Given the description of an element on the screen output the (x, y) to click on. 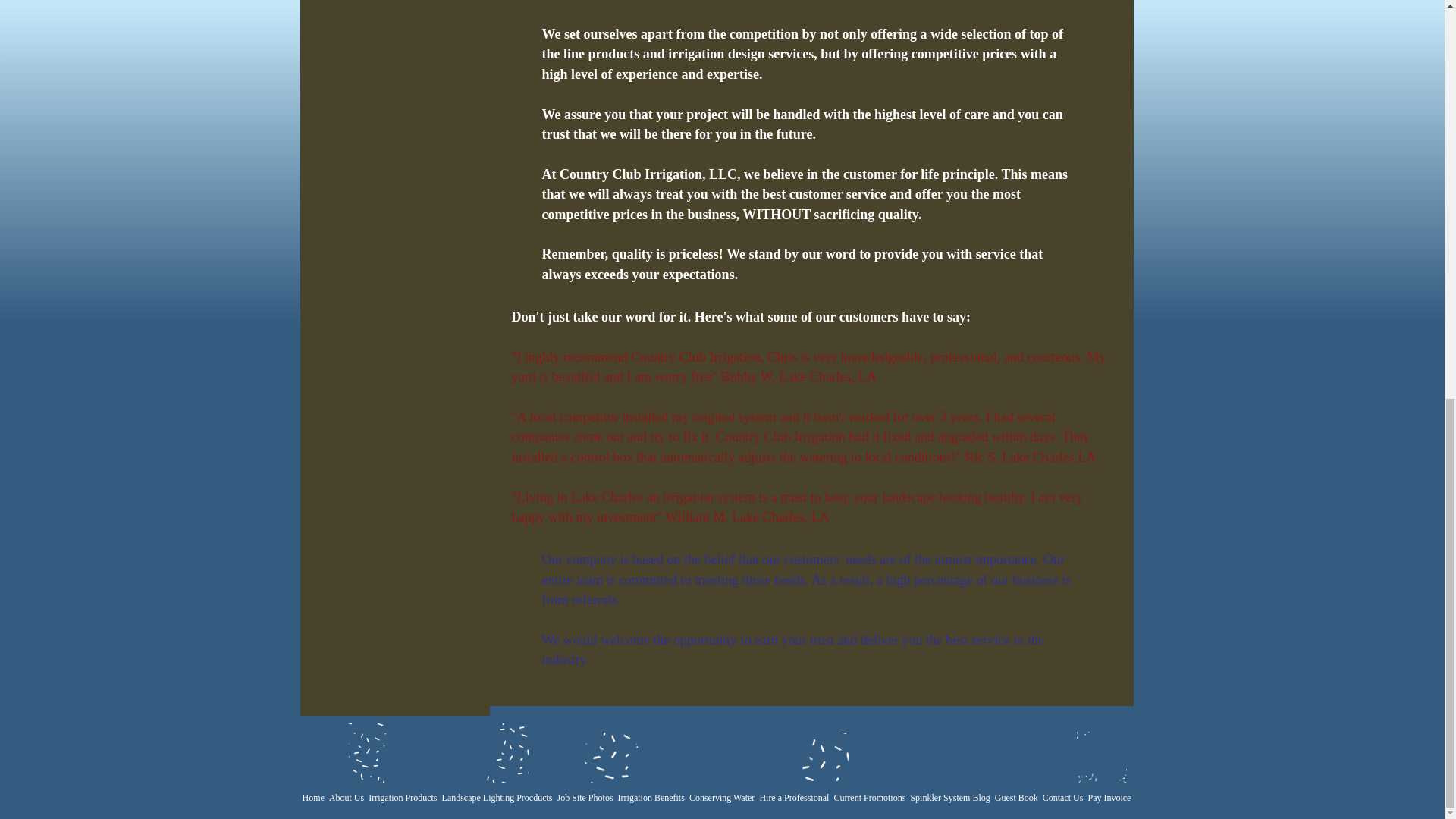
Current Promotions (869, 797)
Hire a Professional (794, 797)
Contact Us (1063, 797)
Conserving Water (722, 797)
Guest Book (1016, 797)
Irrigation Products (402, 797)
Irrigation Benefits (651, 797)
Pay Invoice (1108, 797)
Landscape Lighting Procducts (496, 797)
About Us (346, 797)
